Given the description of an element on the screen output the (x, y) to click on. 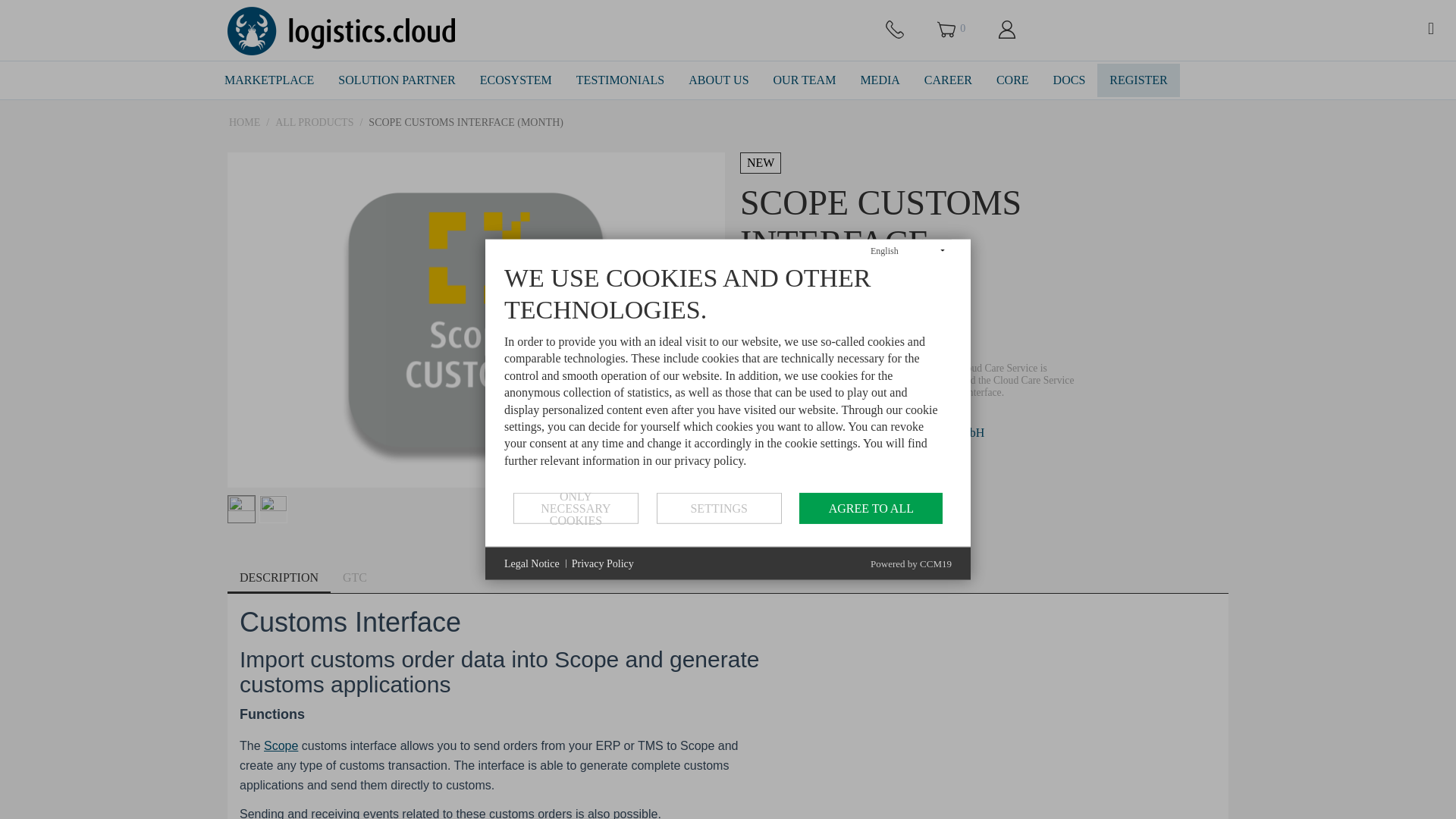
logistics cloud (340, 30)
ECOSYSTEM (515, 81)
REGISTER (1138, 81)
SOLUTION PARTNER (396, 81)
0 (951, 28)
MEDIA (879, 81)
HOME (244, 122)
TESTIMONIALS (620, 81)
OUR TEAM (804, 81)
CAREER (948, 81)
logistics cloud (340, 29)
DOCS (1069, 81)
ALL PRODUCTS (314, 122)
MARKETPLACE (269, 81)
